Given the description of an element on the screen output the (x, y) to click on. 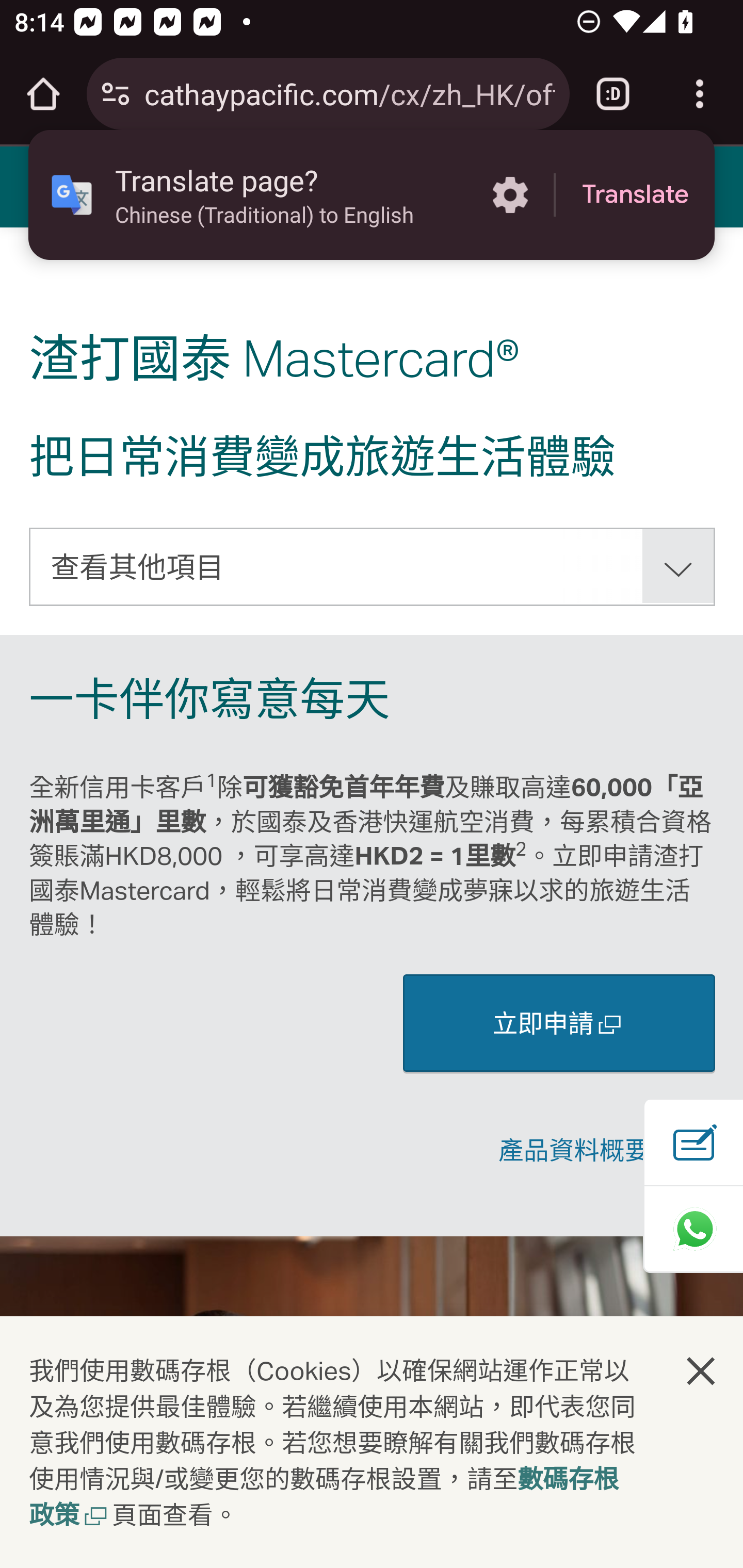
Open the home page (43, 93)
Connection is secure (115, 93)
Switch or close tabs (612, 93)
Customize and control Google Chrome (699, 93)
Translate (634, 195)
功能表 (47, 186)
More options in the Translate page? (509, 195)
查看其他項目 (372, 566)
立即申請 開啟新視窗 立即申請 開啟新視窗 (559, 1022)
關閉 (701, 1370)
數碼存根政策, 在新窗口中打开 數碼存根政策 開啟新視窗 (323, 1498)
